Given the description of an element on the screen output the (x, y) to click on. 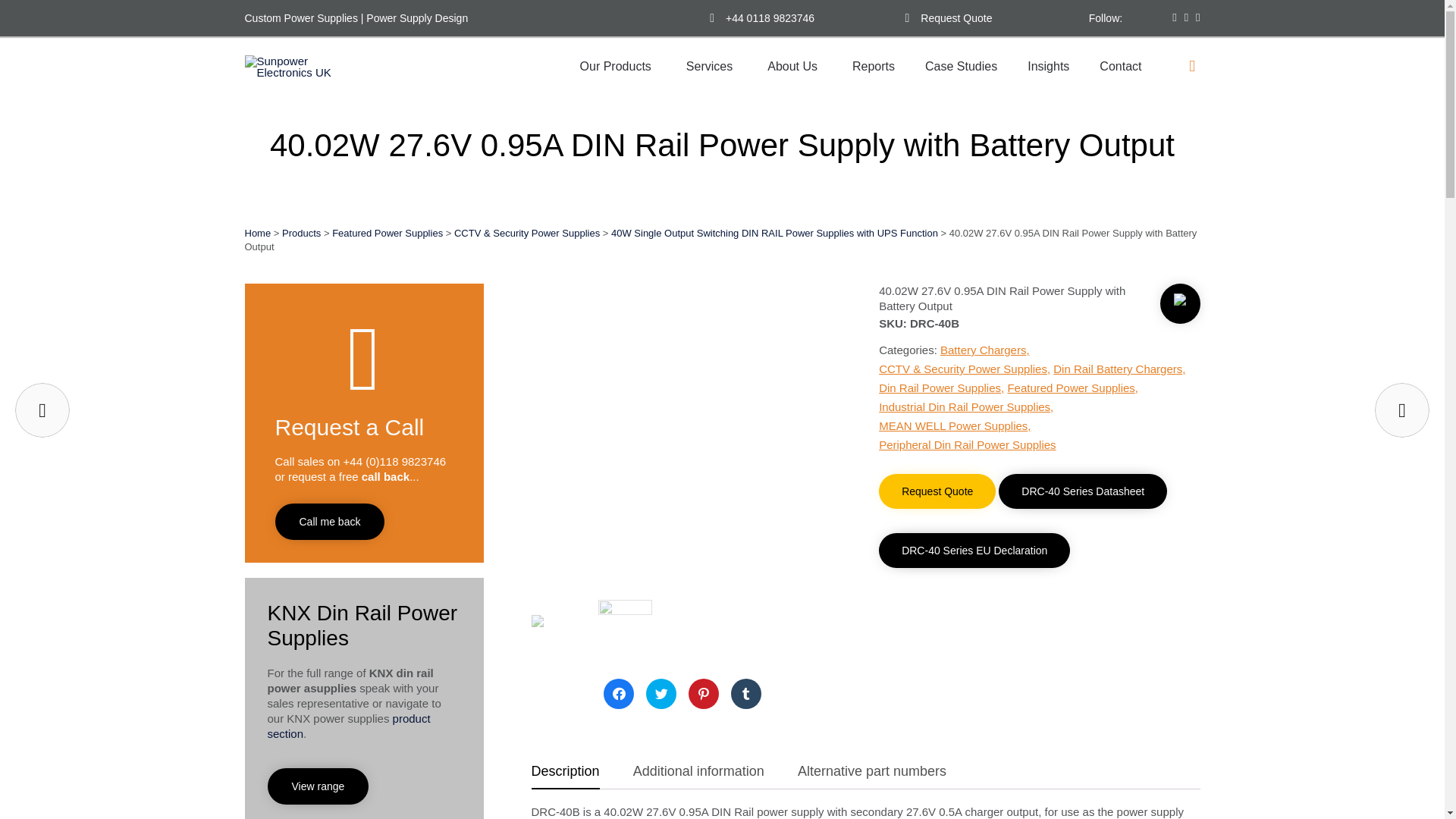
40.02W 27.6V 0.95A DIN Rail Power Supply with Battery Output (558, 642)
Click to share on Facebook (618, 693)
Sunpower Electronics UK (303, 66)
Our Products (617, 66)
Request Quote (955, 18)
Click to share on Pinterest (703, 693)
Click to share on Twitter (661, 693)
